Given the description of an element on the screen output the (x, y) to click on. 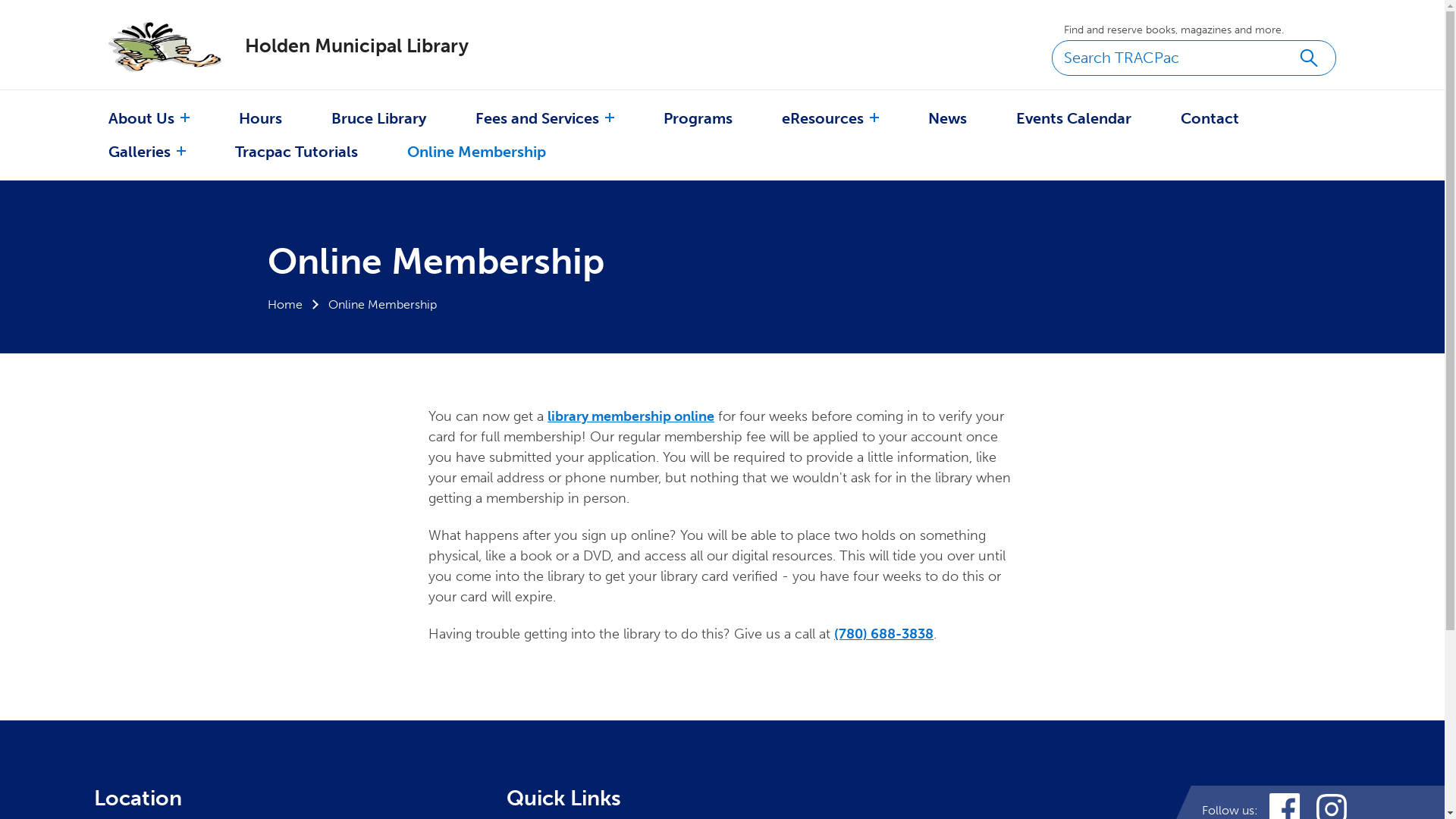
Hours Element type: text (260, 118)
Tracpac Tutorials Element type: text (296, 151)
Home Element type: text (283, 304)
Contact Element type: text (1209, 118)
About Us Element type: text (141, 118)
News Element type: text (947, 118)
(780) 688-3838 Element type: text (883, 633)
Holden Municipal Library Element type: text (303, 46)
Programs Element type: text (697, 118)
Bruce Library Element type: text (378, 118)
Events Calendar Element type: text (1073, 118)
eResources Element type: text (822, 118)
Galleries Element type: text (139, 151)
Fees and Services Element type: text (537, 118)
Online Membership Element type: text (476, 151)
library membership online Element type: text (630, 415)
